Given the description of an element on the screen output the (x, y) to click on. 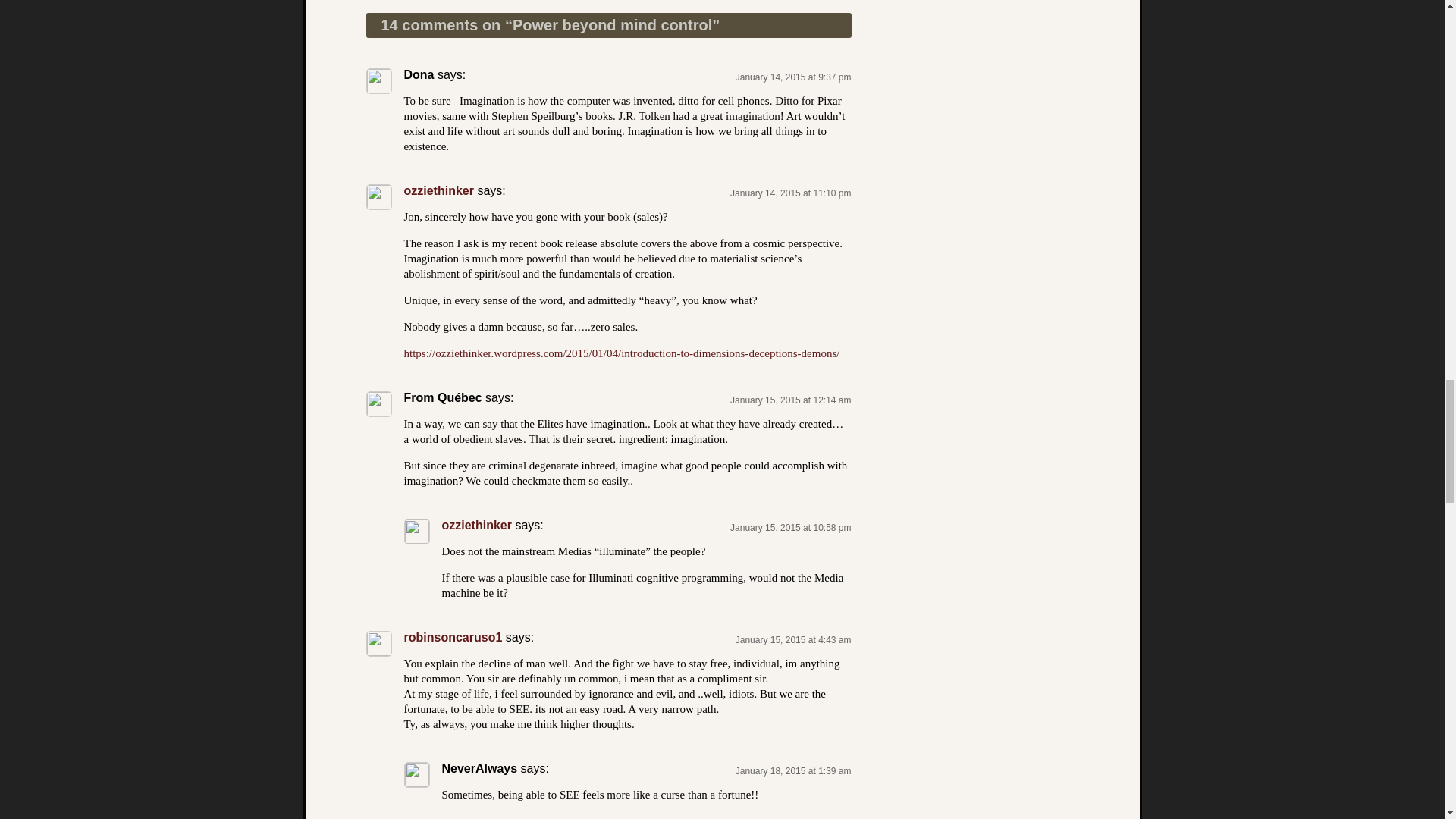
January 14, 2015 at 11:10 pm (790, 193)
ozziethinker (438, 190)
ozziethinker (476, 524)
January 18, 2015 at 1:39 am (793, 770)
January 15, 2015 at 4:43 am (793, 639)
robinsoncaruso1 (452, 636)
January 14, 2015 at 9:37 pm (793, 77)
January 15, 2015 at 10:58 pm (790, 527)
January 15, 2015 at 12:14 am (790, 399)
